Given the description of an element on the screen output the (x, y) to click on. 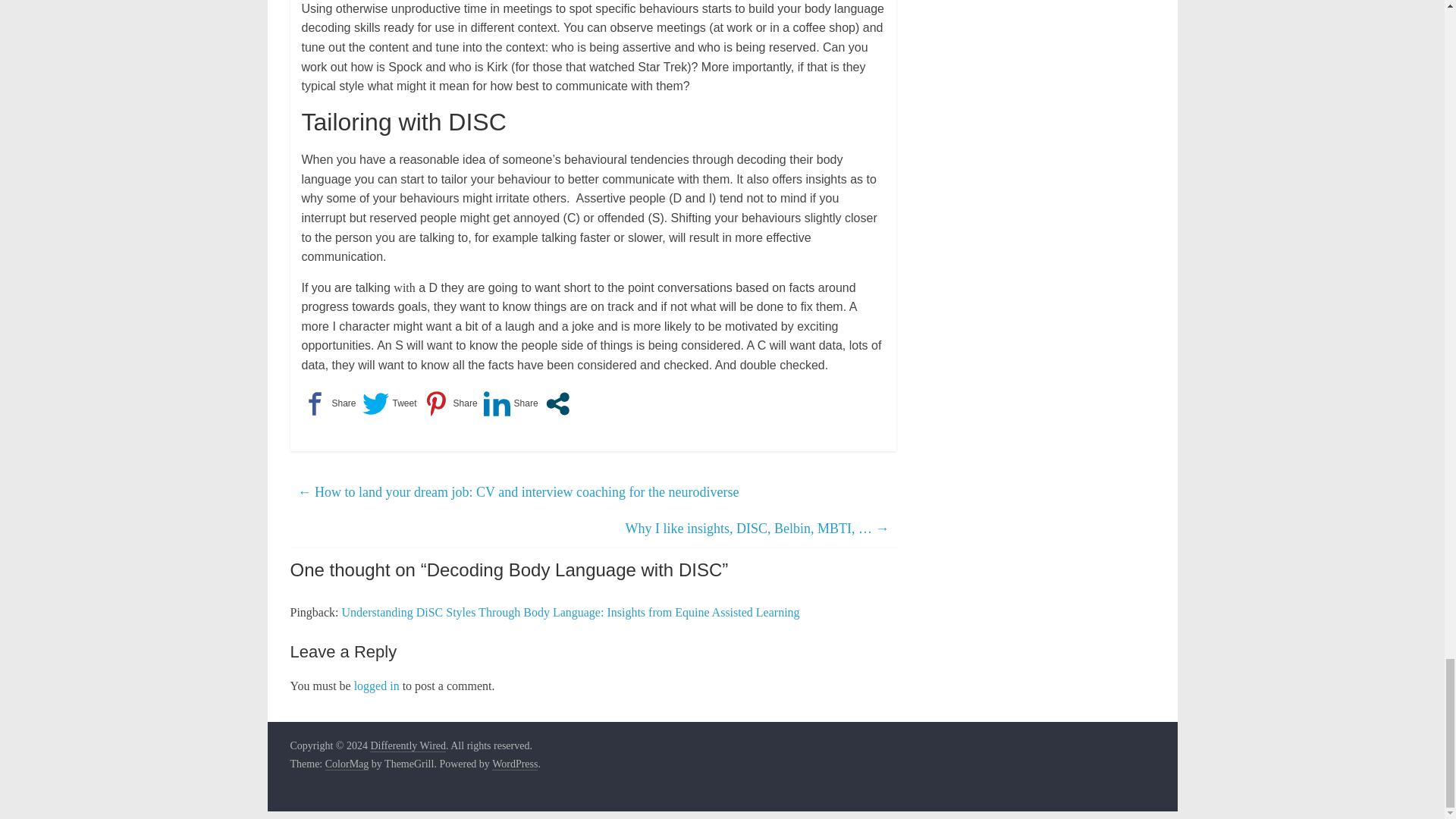
Share on Pinterest (450, 403)
Tweet (389, 403)
Share on Linkedin (510, 403)
ColorMag (346, 764)
logged in (375, 685)
Open modal social networks (557, 403)
Share on Facebook (328, 403)
WordPress (514, 764)
Differently Wired (407, 746)
